Given the description of an element on the screen output the (x, y) to click on. 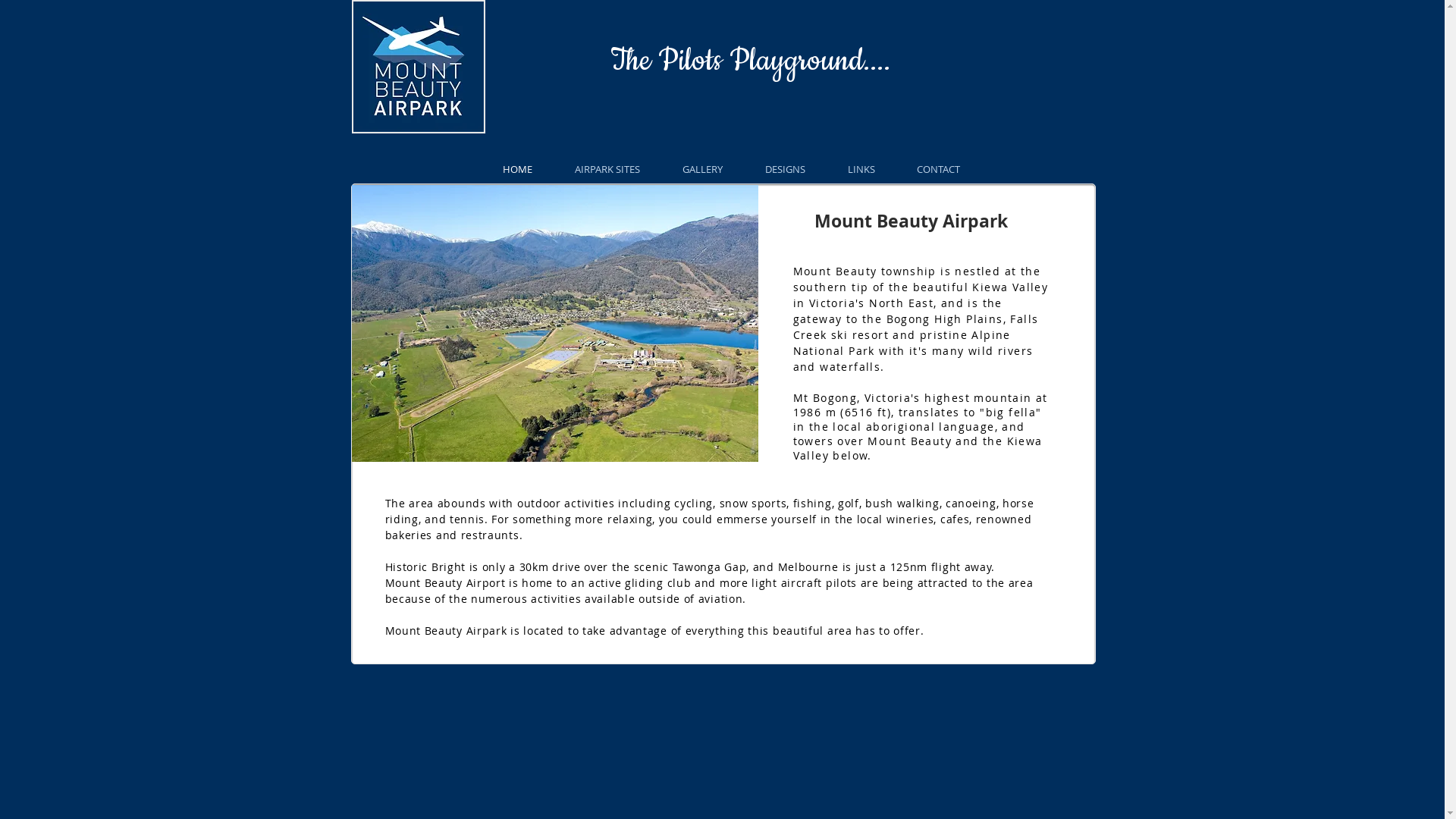
CONTACT Element type: text (938, 168)
LINKS Element type: text (861, 168)
GALLERY Element type: text (702, 168)
MB_blue_rgb.jpg Element type: hover (418, 66)
HOME Element type: text (516, 168)
DESIGNS Element type: text (784, 168)
AIRPARK SITES Element type: text (607, 168)
